Given the description of an element on the screen output the (x, y) to click on. 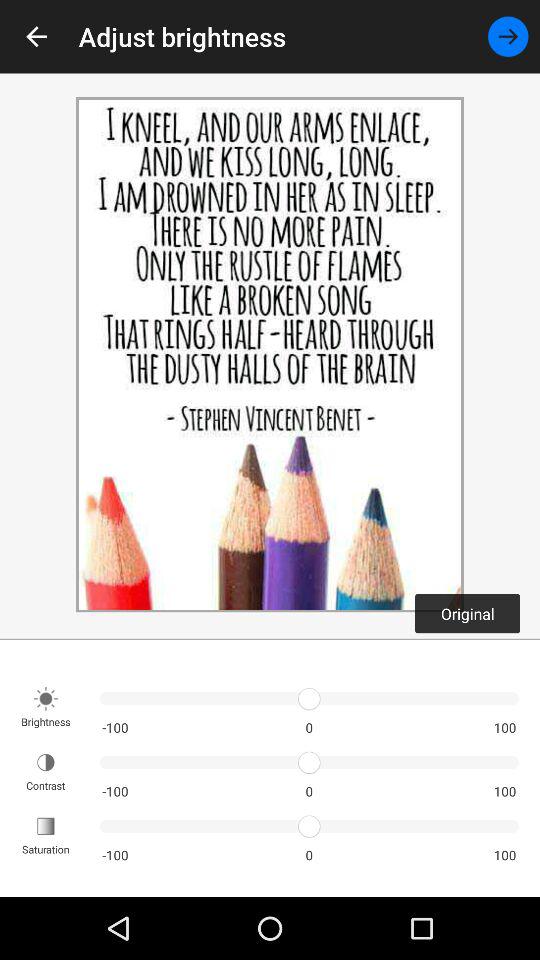
turn off item to the right of the adjust brightness (508, 36)
